Given the description of an element on the screen output the (x, y) to click on. 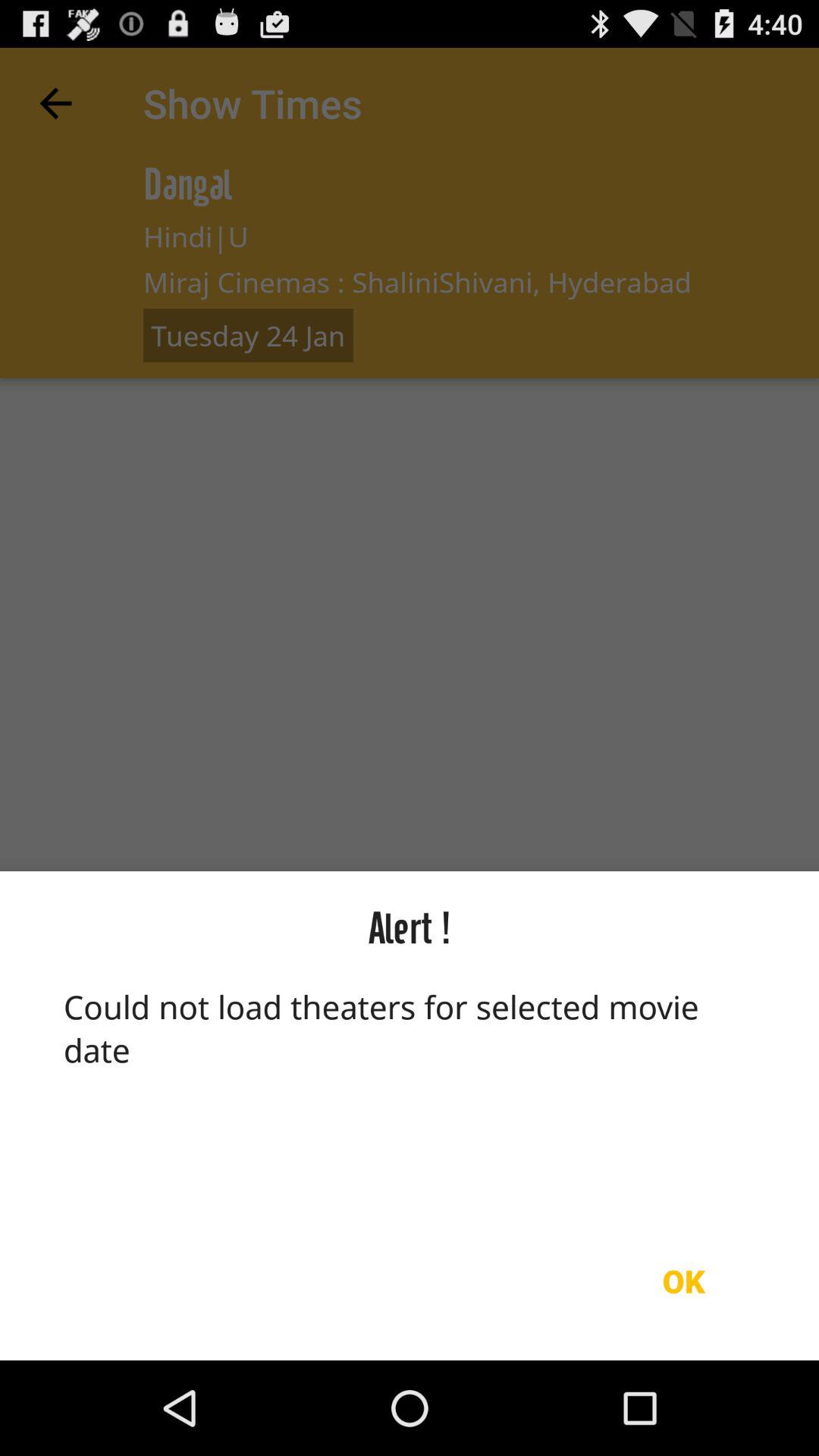
click could not load icon (409, 1093)
